Given the description of an element on the screen output the (x, y) to click on. 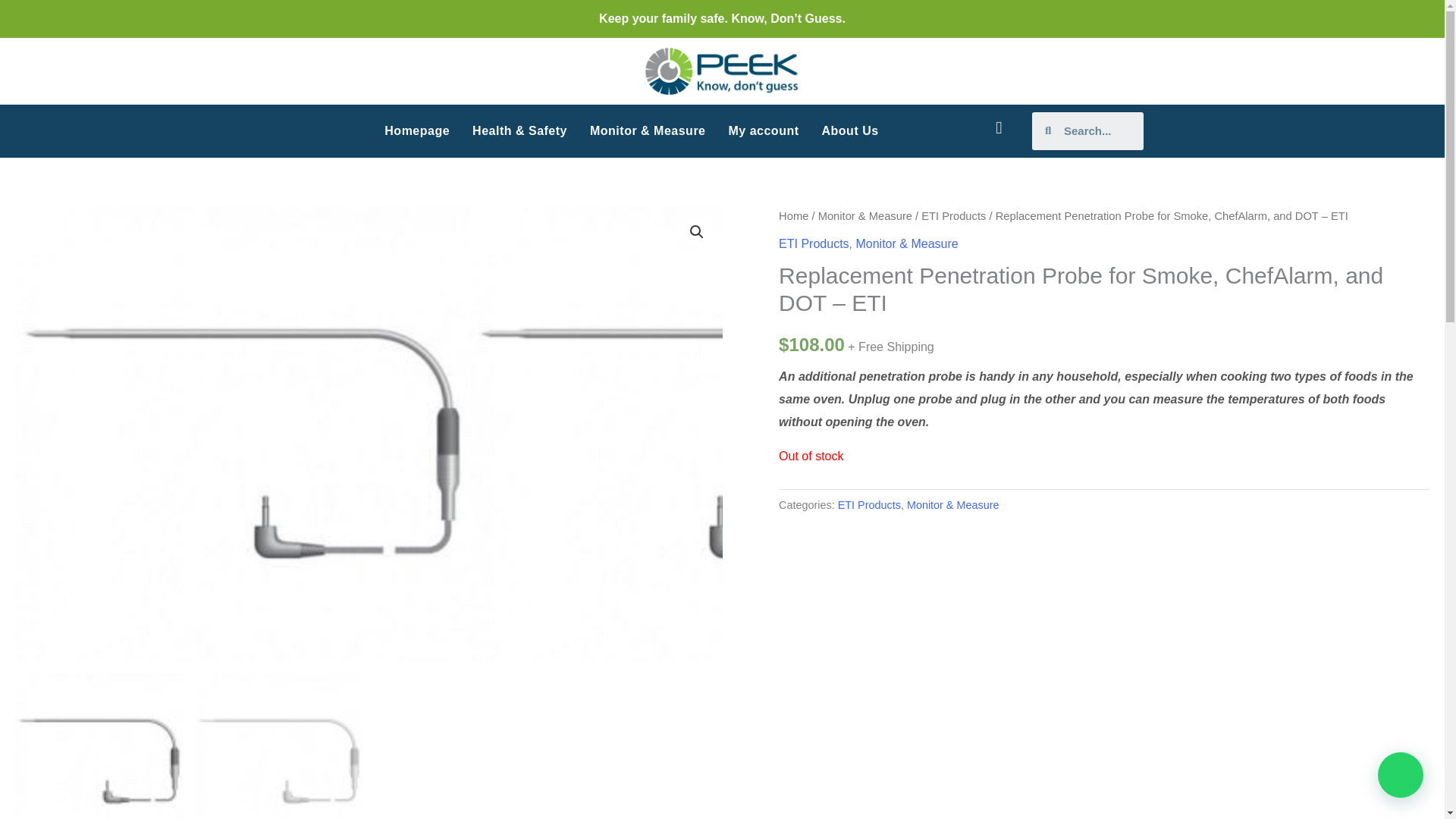
About Us (849, 130)
Search (1096, 130)
My account (763, 130)
ETI Products (869, 504)
Home (793, 215)
ETI Products (813, 243)
ETI Products (953, 215)
Homepage (416, 130)
